Given the description of an element on the screen output the (x, y) to click on. 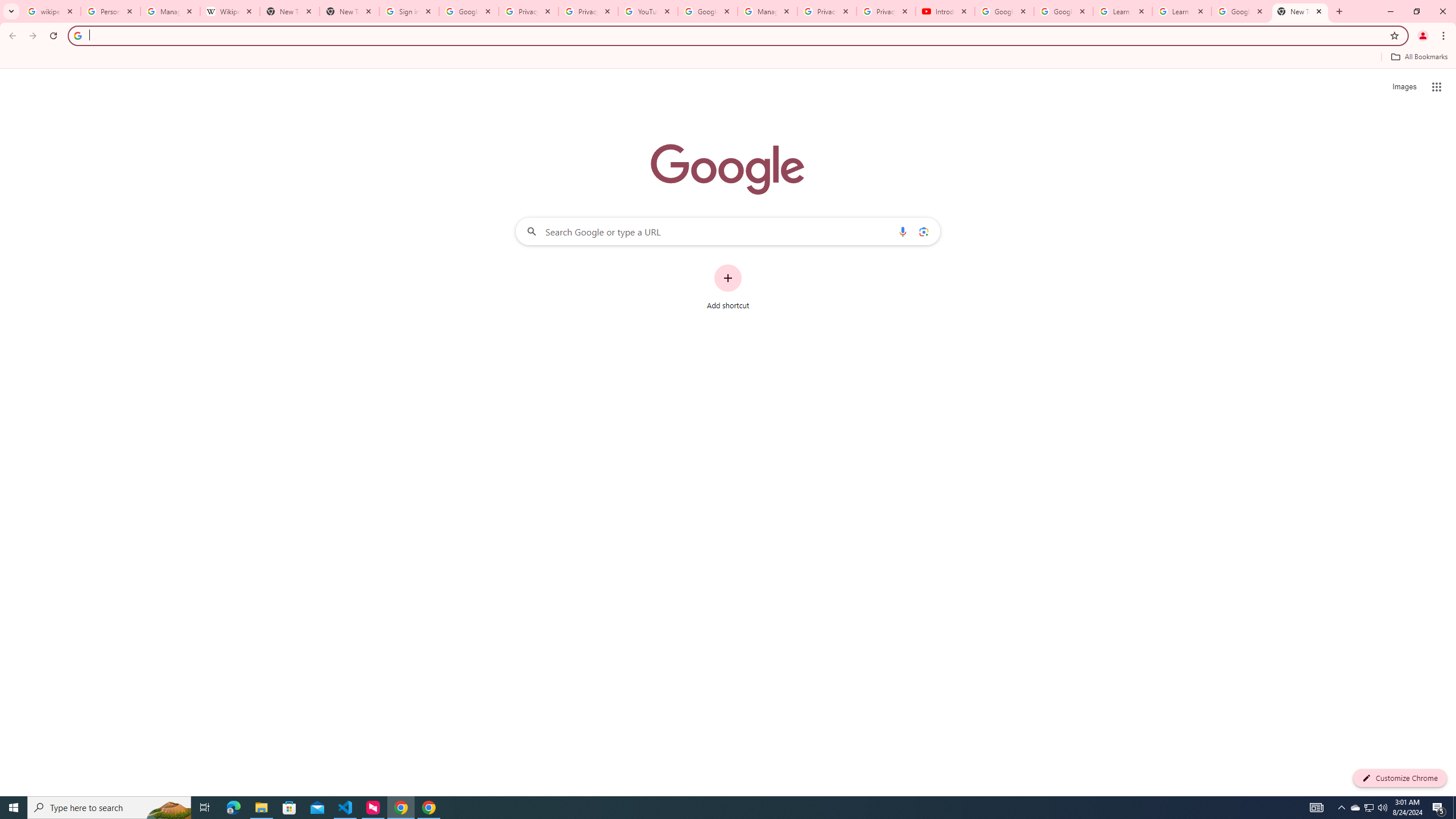
New Tab (349, 11)
Personalization & Google Search results - Google Search Help (110, 11)
Introduction | Google Privacy Policy - YouTube (944, 11)
Search by image (922, 230)
Google Account Help (707, 11)
Search by voice (902, 230)
Google Account Help (1063, 11)
Search for Images  (1403, 87)
